Given the description of an element on the screen output the (x, y) to click on. 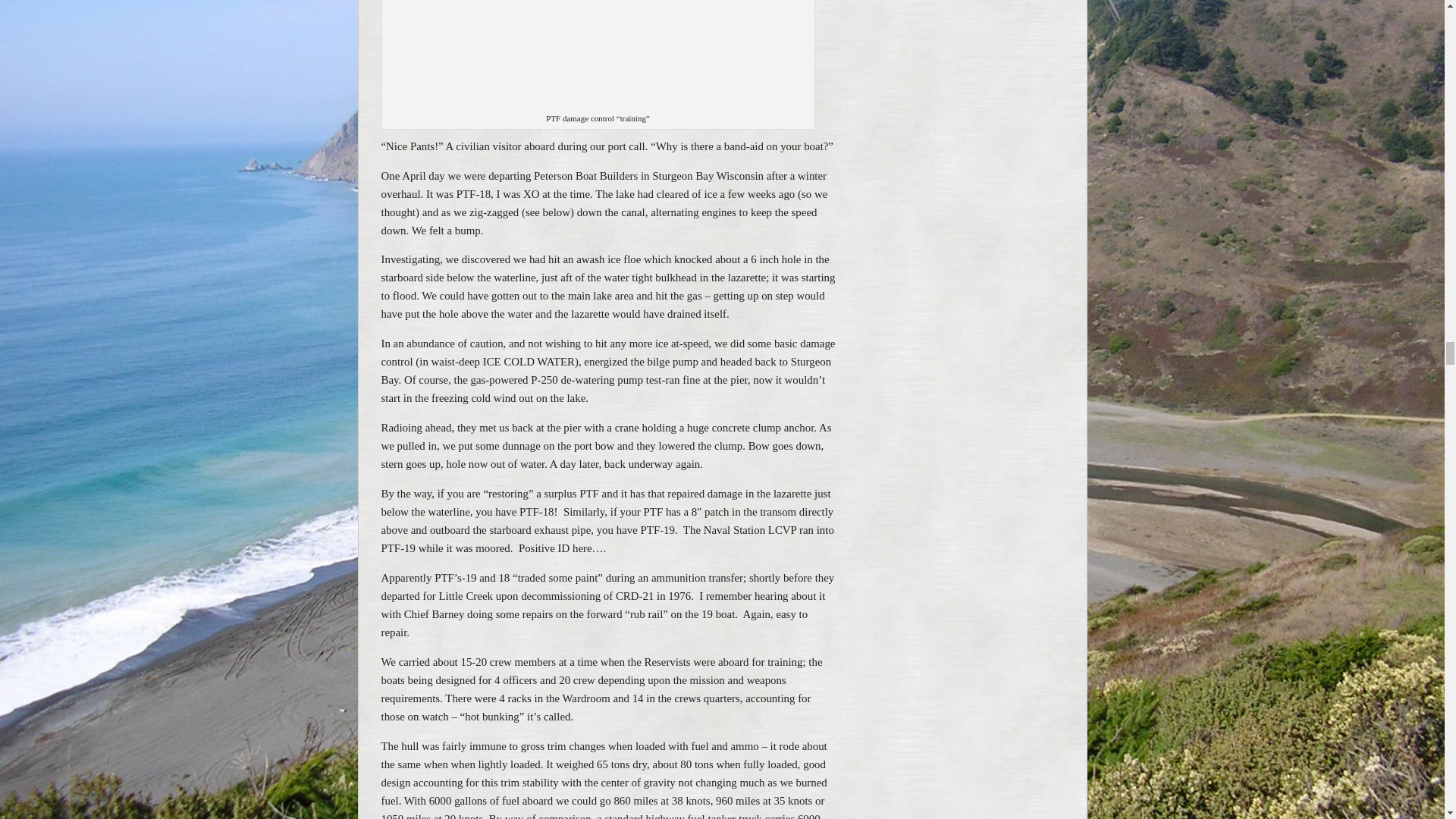
PTF damage control "training" (597, 56)
